Given the description of an element on the screen output the (x, y) to click on. 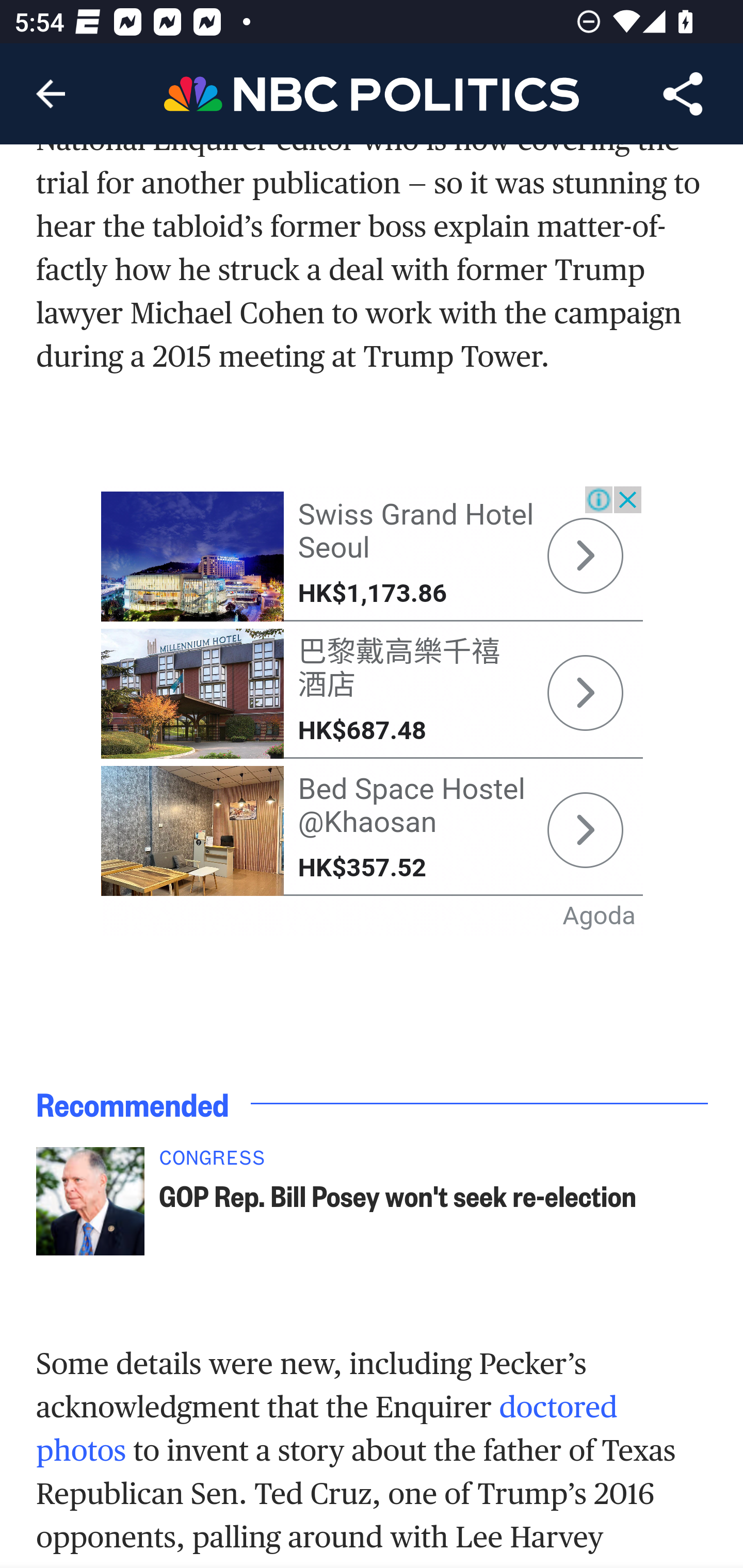
Navigate up (50, 93)
Share Article, button (683, 94)
Header, NBC Politics (371, 93)
partnersearch (193, 556)
Swiss Grand Hotel Seoul Swiss Grand Hotel Seoul (415, 531)
partnersearch (584, 555)
HK$1,173.86 (372, 593)
partnersearch (193, 694)
巴黎戴高樂千禧 酒店 巴黎戴高樂千禧 酒店 (399, 668)
partnersearch (584, 692)
HK$687.48 (361, 731)
partnersearch (193, 830)
partnersearch (584, 830)
HK$357.52 (361, 867)
Agoda (599, 915)
CONGRESS (398, 1162)
GOP Rep. Bill Posey won't seek re-election (398, 1196)
doctored photos (327, 1428)
